Given the description of an element on the screen output the (x, y) to click on. 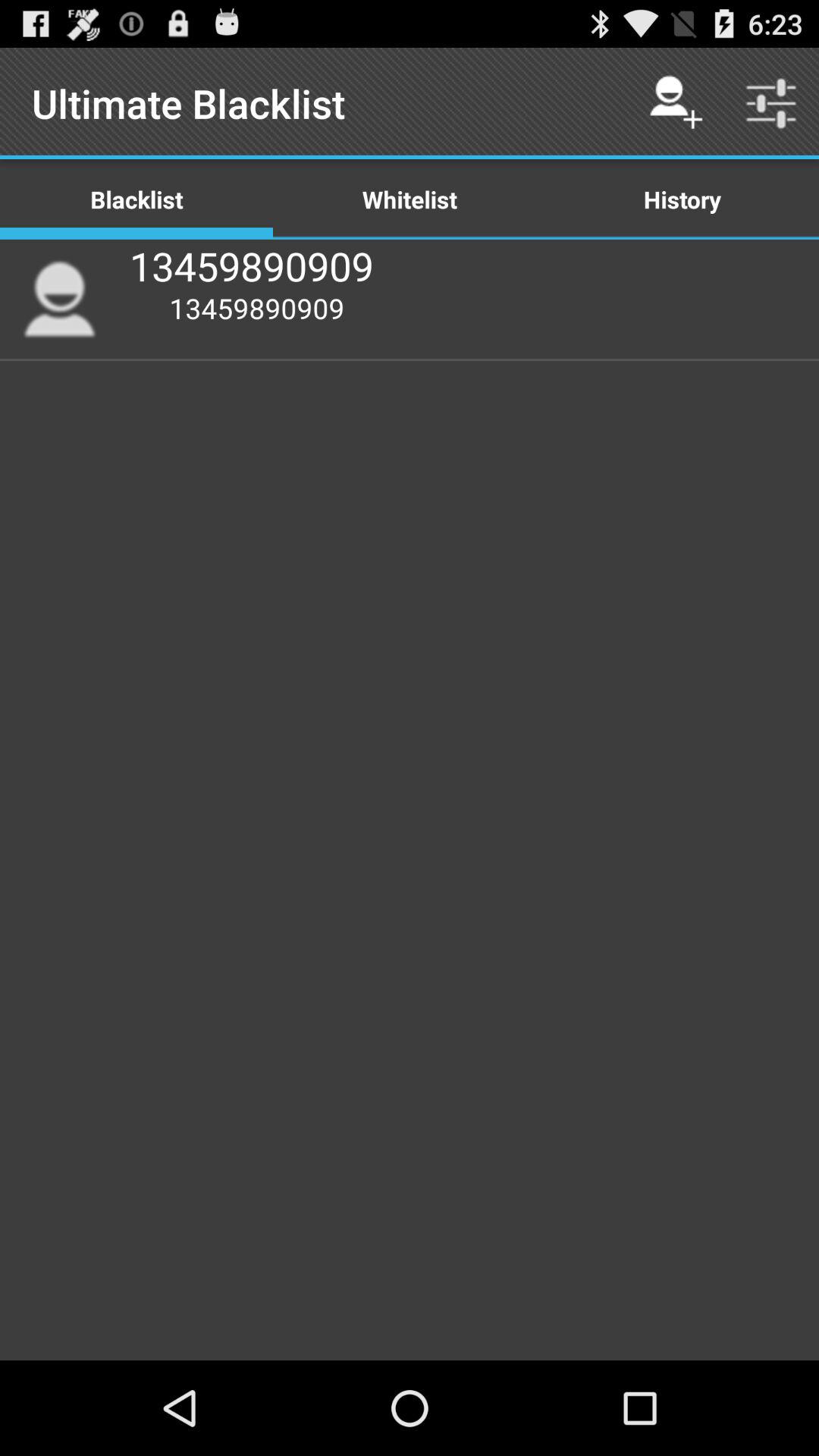
launch the item next to whitelist (682, 199)
